Given the description of an element on the screen output the (x, y) to click on. 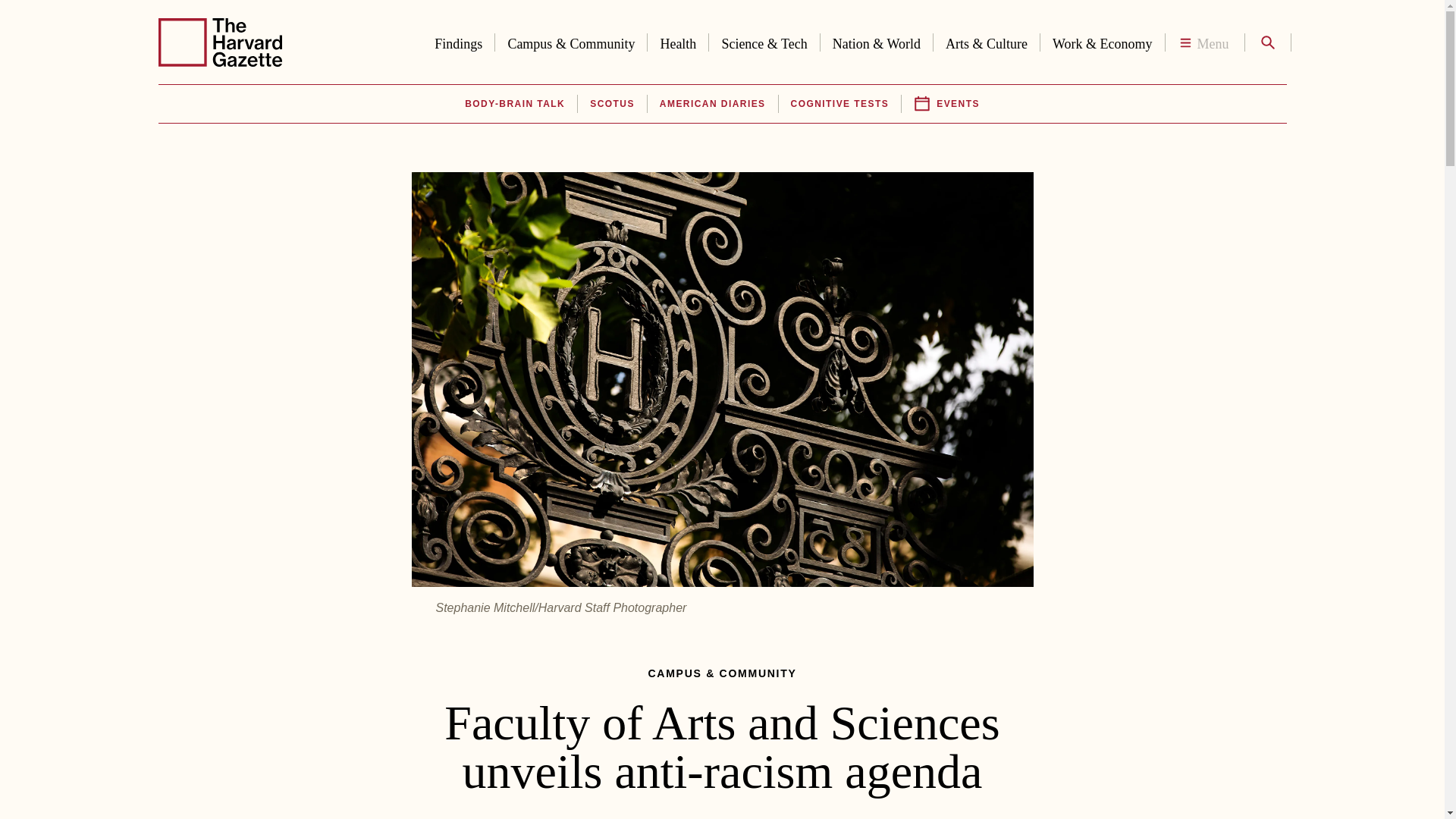
Health (677, 41)
BODY-BRAIN TALK (514, 103)
Findings (457, 41)
Menu (1204, 42)
SCOTUS (612, 103)
